Given the description of an element on the screen output the (x, y) to click on. 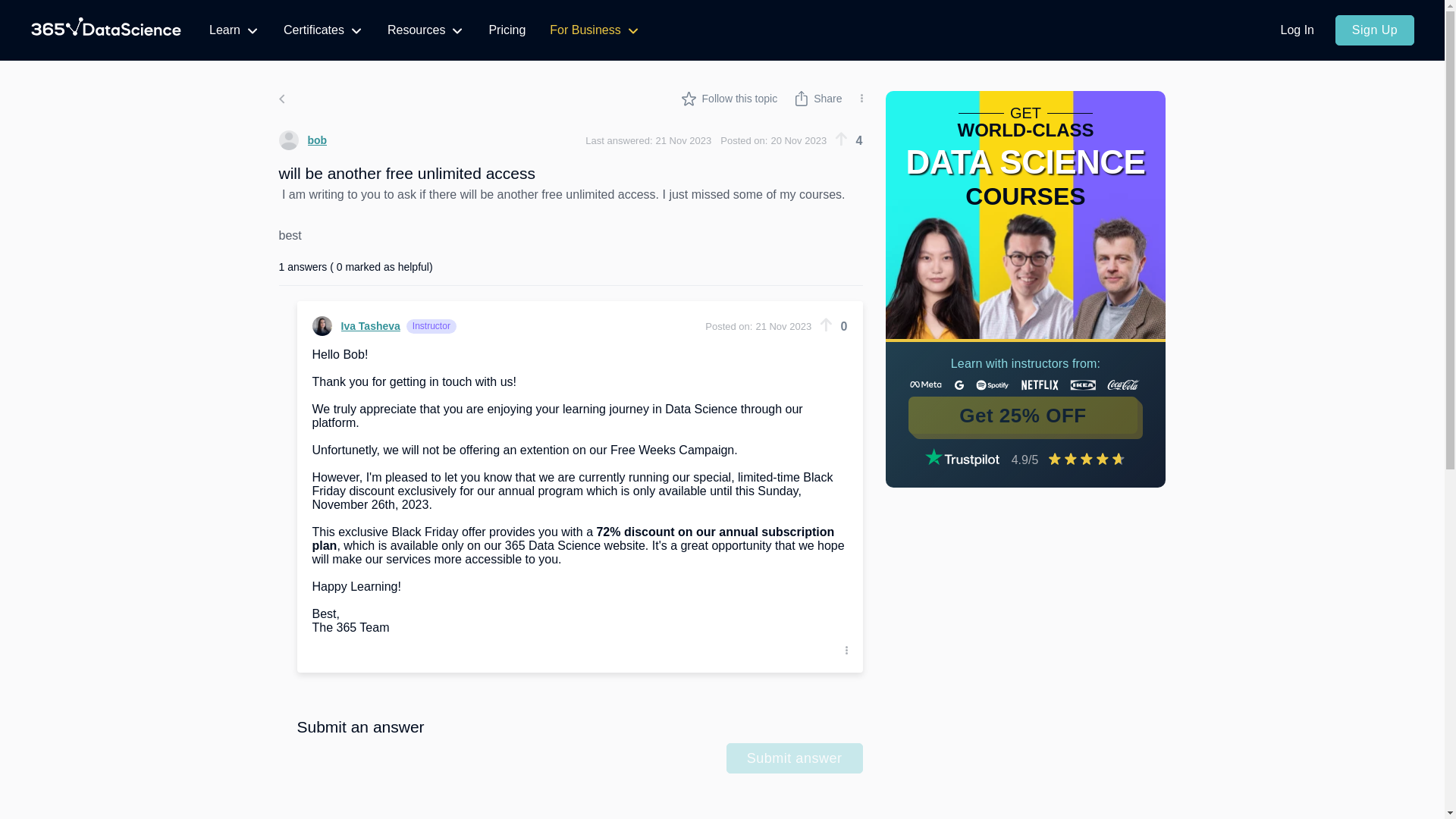
Pricing (506, 29)
Iva Tasheva (356, 325)
Pricing (506, 29)
bob (303, 139)
Submit answer (794, 757)
Log In (1296, 29)
Sign Up (1374, 30)
365 Data Science (106, 30)
